Given the description of an element on the screen output the (x, y) to click on. 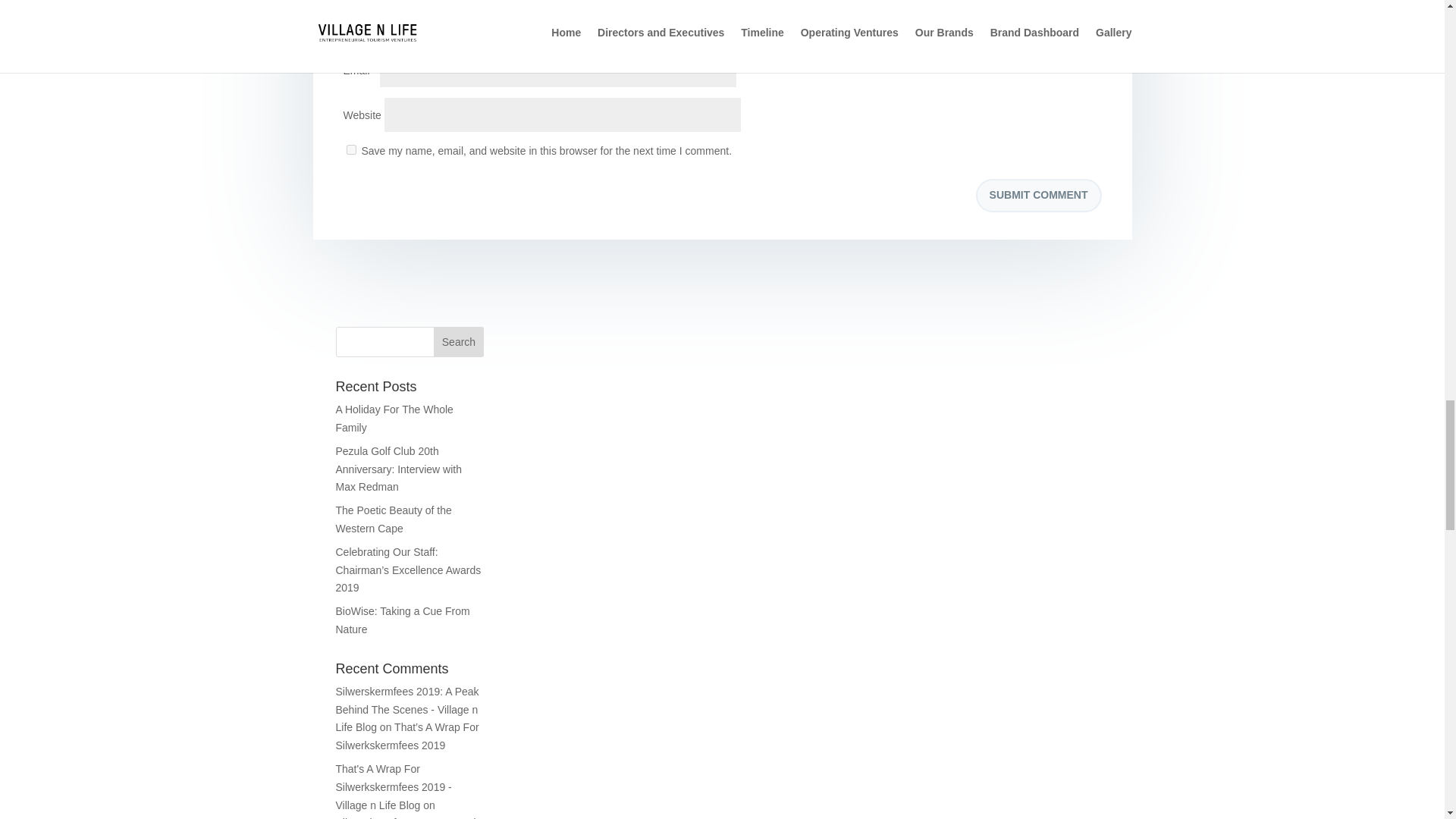
Submit Comment (1038, 195)
Submit Comment (1038, 195)
A Holiday For The Whole Family (393, 418)
BioWise: Taking a Cue From Nature (401, 620)
Silwerskermfees 2019: A Peak Behind The Scenes (406, 817)
The Poetic Beauty of the Western Cape (392, 519)
Pezula Golf Club 20th Anniversary: Interview with Max Redman (397, 469)
yes (350, 149)
Search (458, 341)
Search (458, 341)
